Given the description of an element on the screen output the (x, y) to click on. 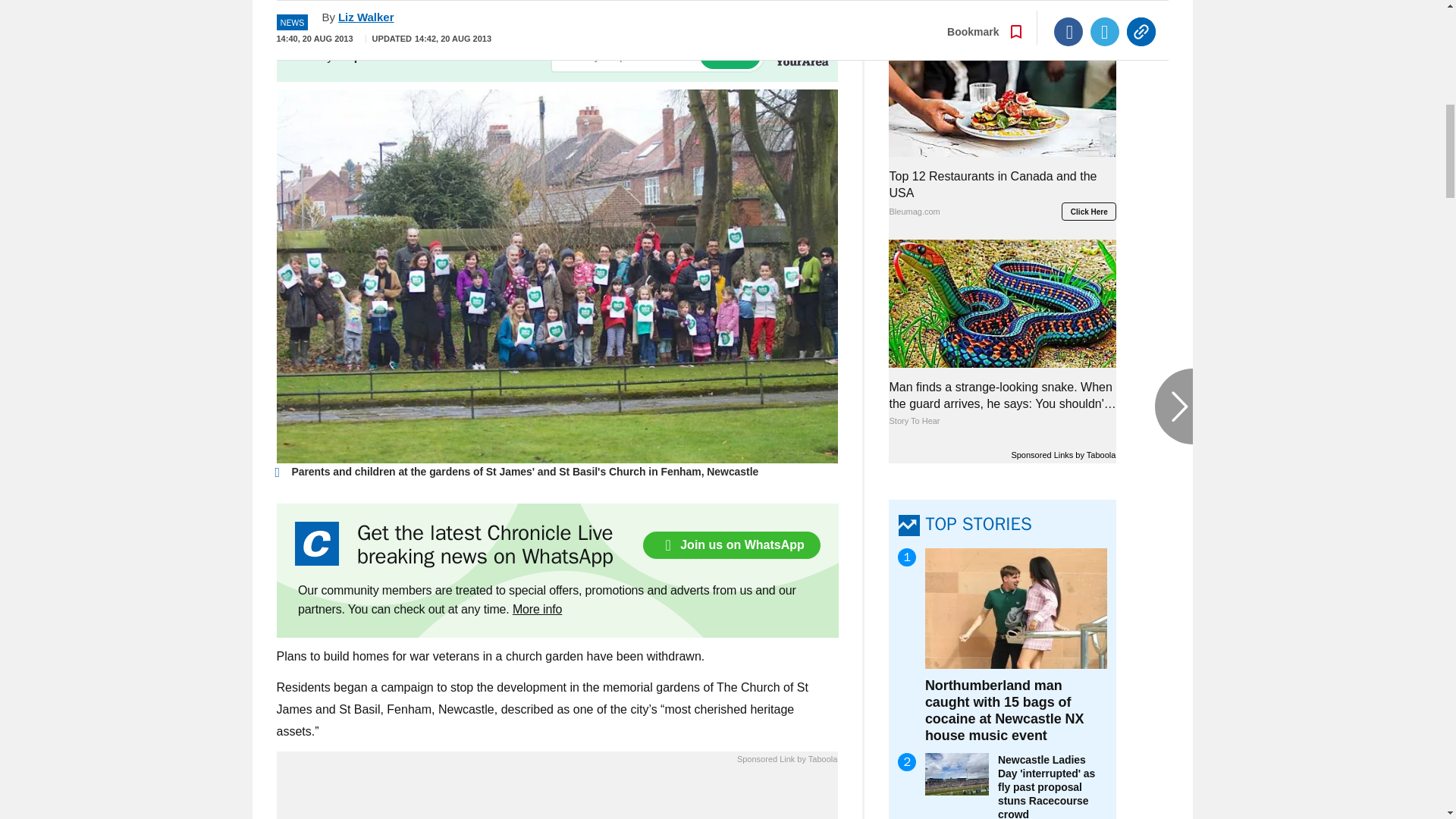
Go (730, 55)
Use an AI Writing Tool That Actually Understands Your Voice (557, 796)
